Given the description of an element on the screen output the (x, y) to click on. 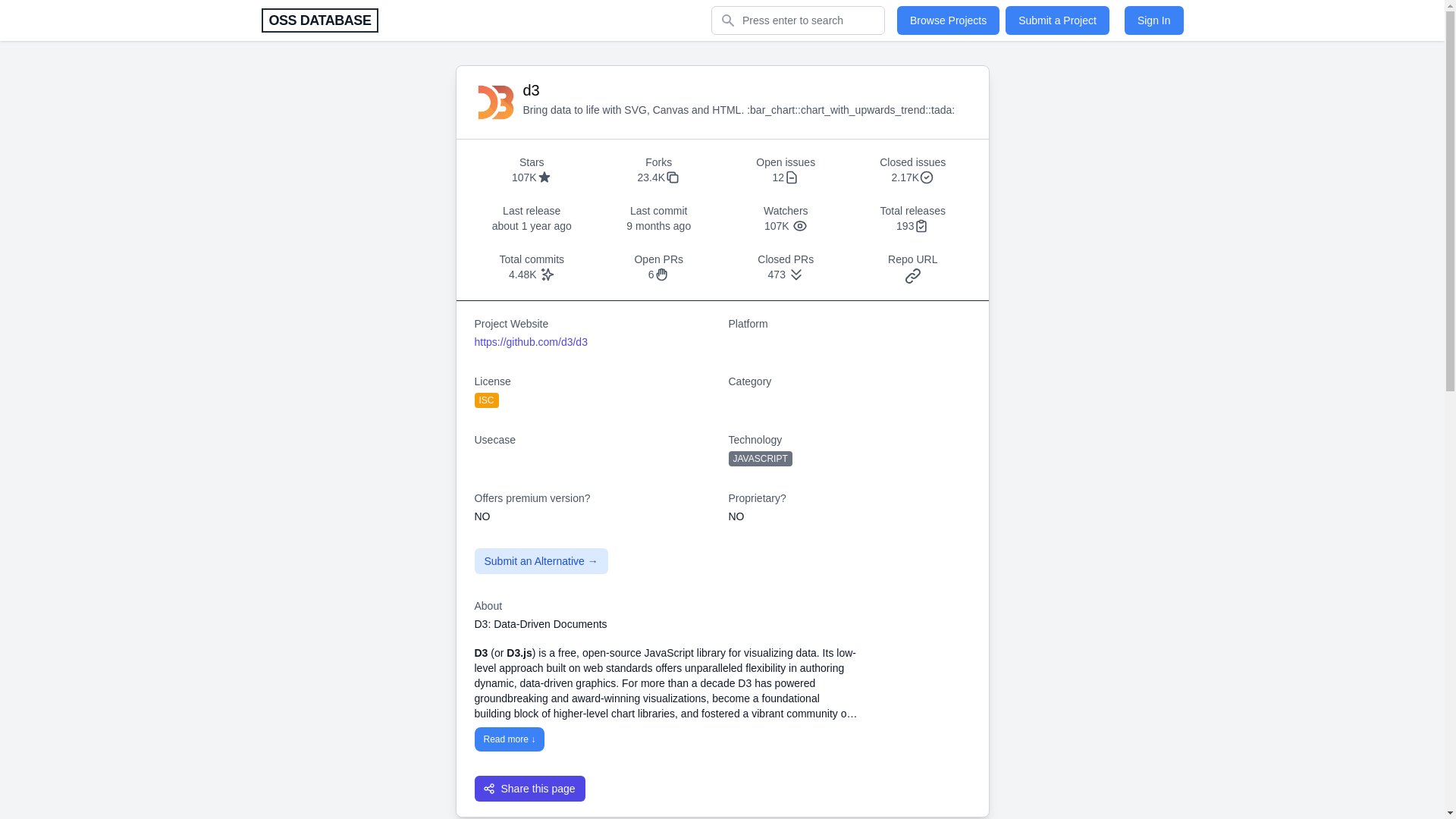
Submit a Project (1057, 20)
Sign In (1153, 19)
Submit a Project (1057, 19)
JAVASCRIPT (760, 458)
OSS DATABASE (319, 20)
Browse Projects (947, 20)
Share this page (529, 787)
Sign In (1153, 20)
Browse Projects (947, 19)
ISC (486, 399)
